Given the description of an element on the screen output the (x, y) to click on. 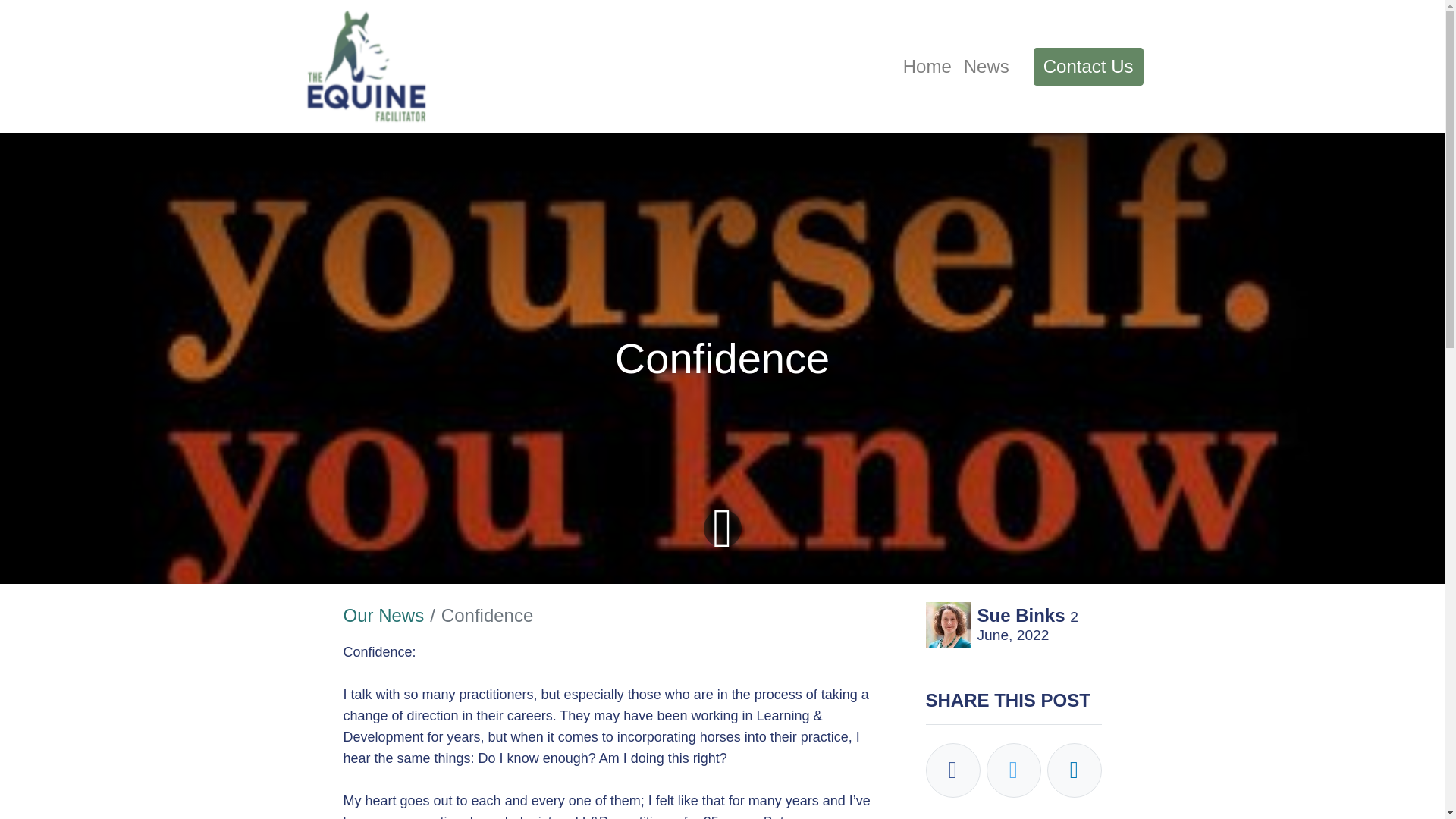
Contact Us (1087, 66)
Equine Facilitator (367, 66)
Home (927, 66)
Share on Twitter (1013, 769)
News (986, 66)
Share on LinkedIn (1073, 769)
Our News (382, 615)
Share on Facebook (951, 769)
